Given the description of an element on the screen output the (x, y) to click on. 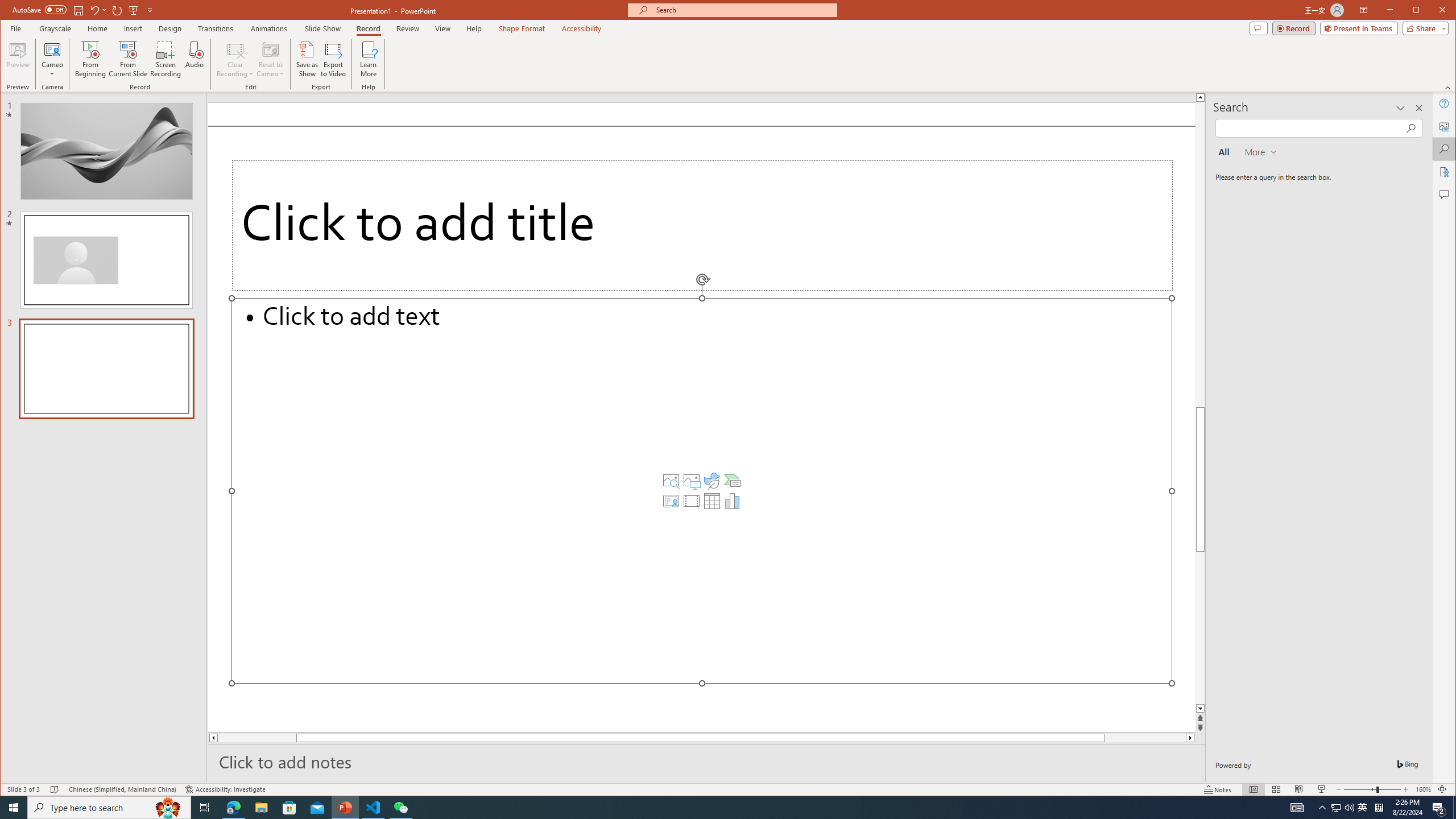
Content Placeholder (701, 490)
